Given the description of an element on the screen output the (x, y) to click on. 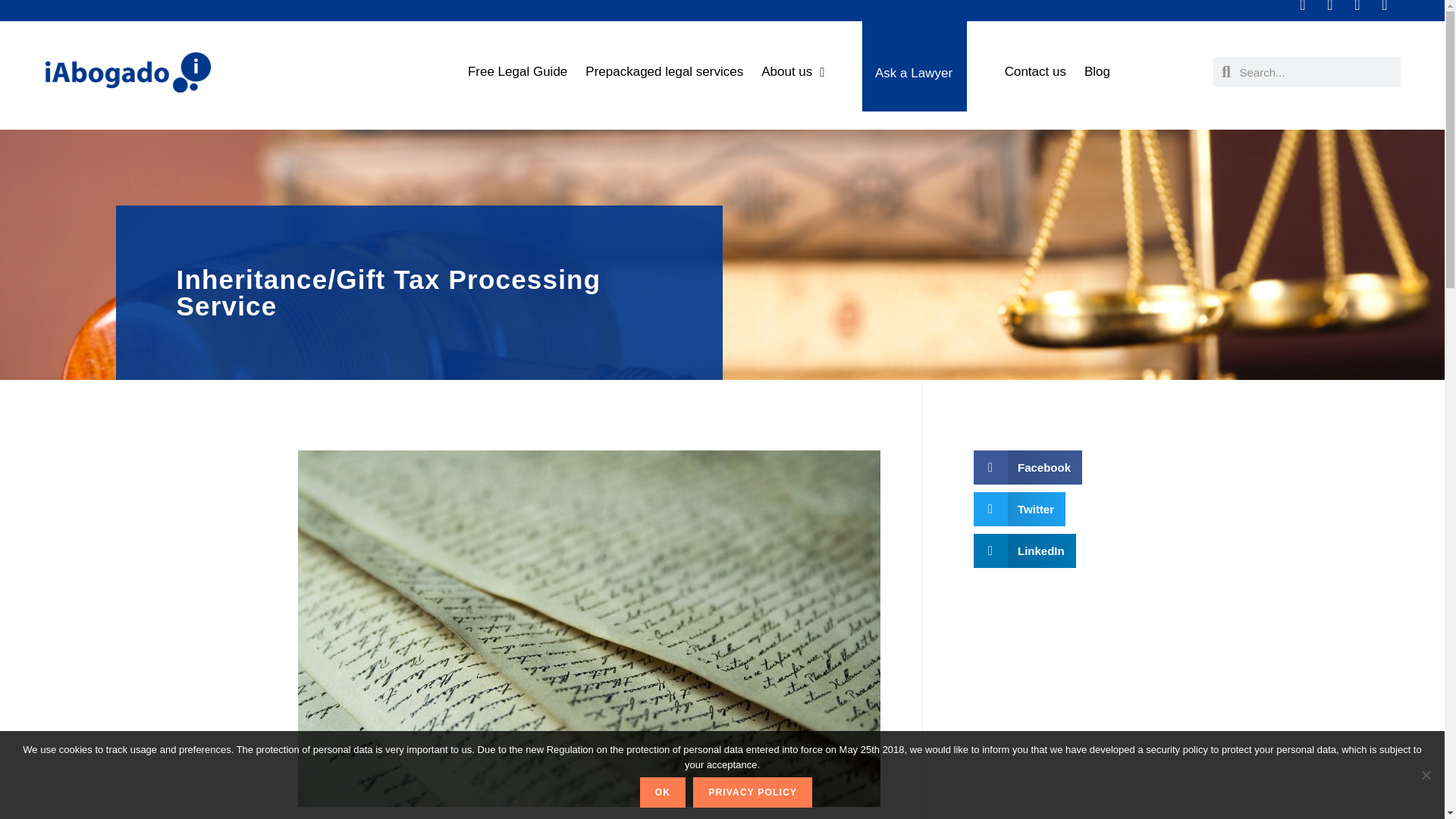
About us (792, 71)
No (1425, 774)
Contact us (1035, 71)
Ask a Lawyer (913, 66)
Free Legal Guide (517, 71)
Prepackaged legal services (664, 71)
Blue logo Spain Lawyer (128, 72)
Blog (1097, 71)
